Given the description of an element on the screen output the (x, y) to click on. 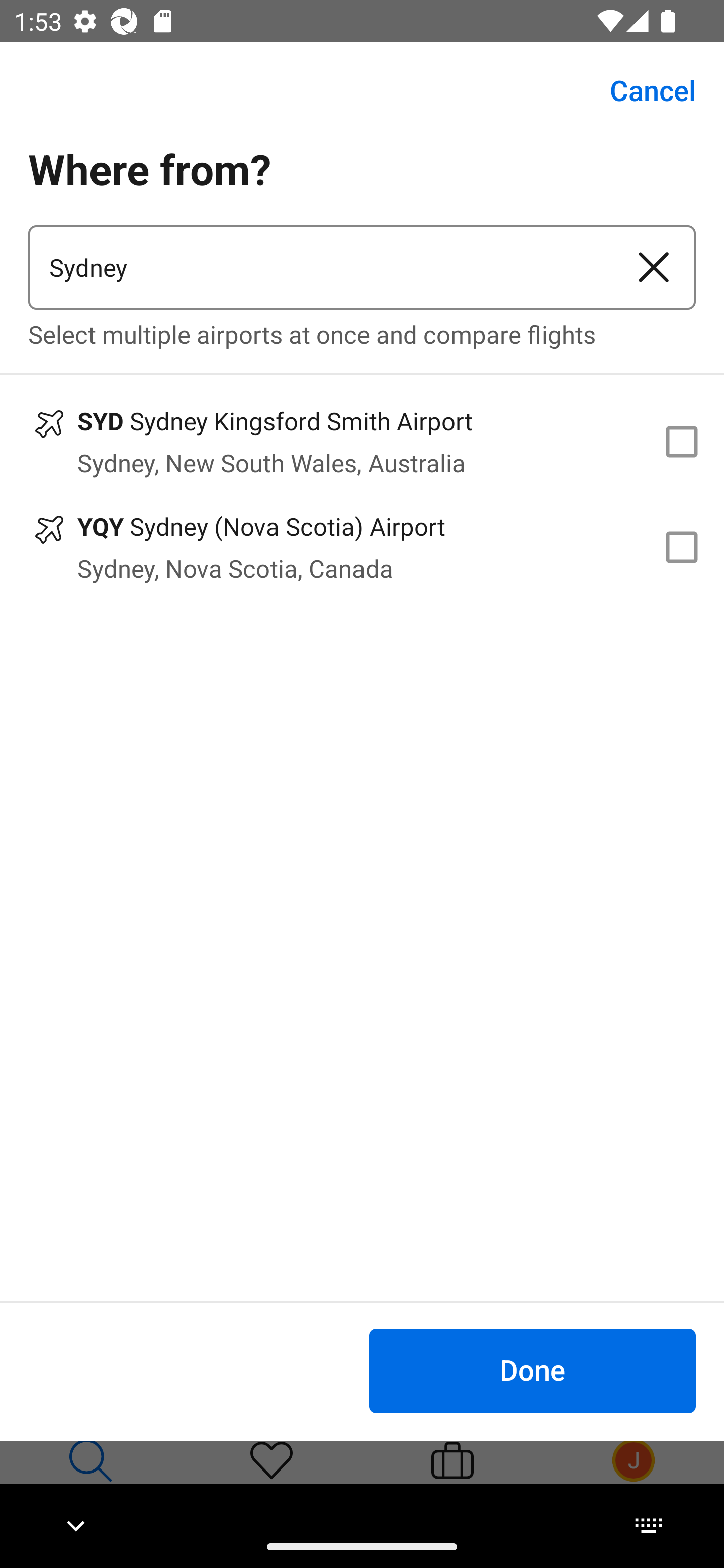
Cancel (641, 90)
Sydney (319, 266)
Clear airport or city (653, 266)
Done (532, 1370)
